Given the description of an element on the screen output the (x, y) to click on. 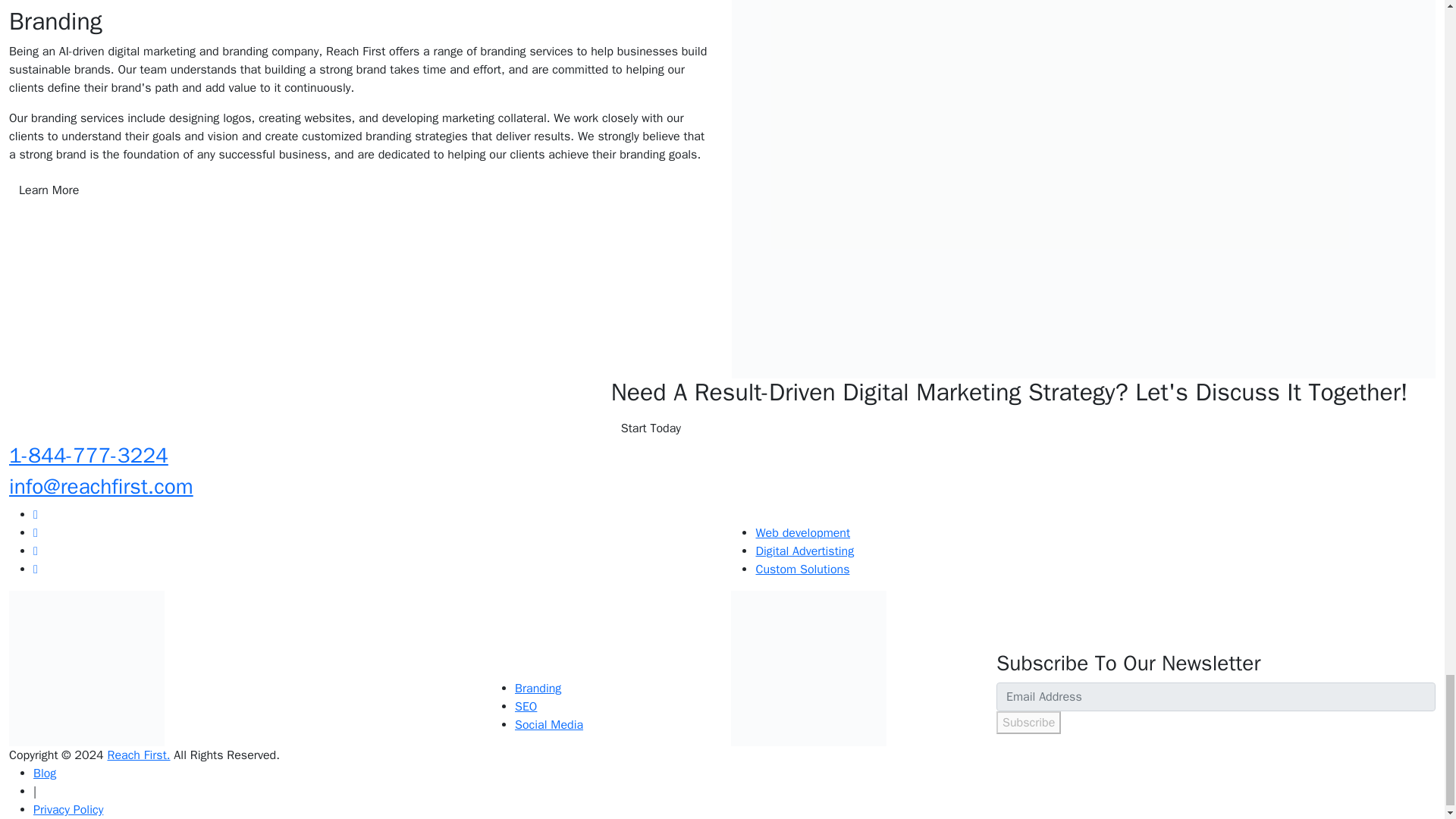
Start Today (650, 428)
Branding (537, 688)
Learn More (48, 190)
1-844-777-3224 (88, 455)
